Given the description of an element on the screen output the (x, y) to click on. 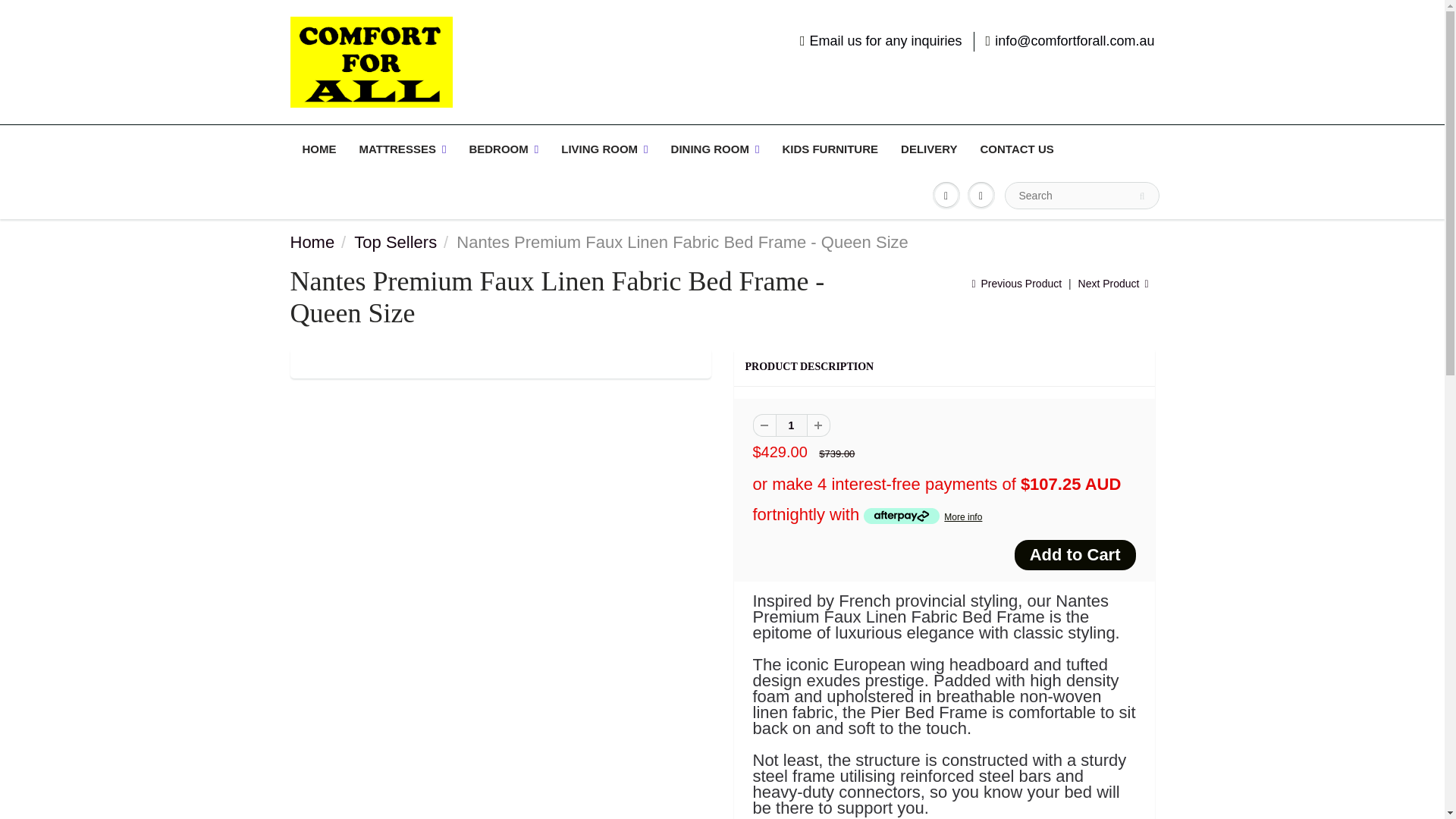
MATTRESSES (402, 149)
Email us for any inquiries (880, 41)
HOME (319, 149)
Add to Cart (1074, 554)
1 (790, 425)
KIDS FURNITURE (829, 149)
BEDROOM (503, 149)
LIVING ROOM (604, 149)
Home (311, 241)
DINING ROOM (715, 149)
DELIVERY (928, 149)
